Given the description of an element on the screen output the (x, y) to click on. 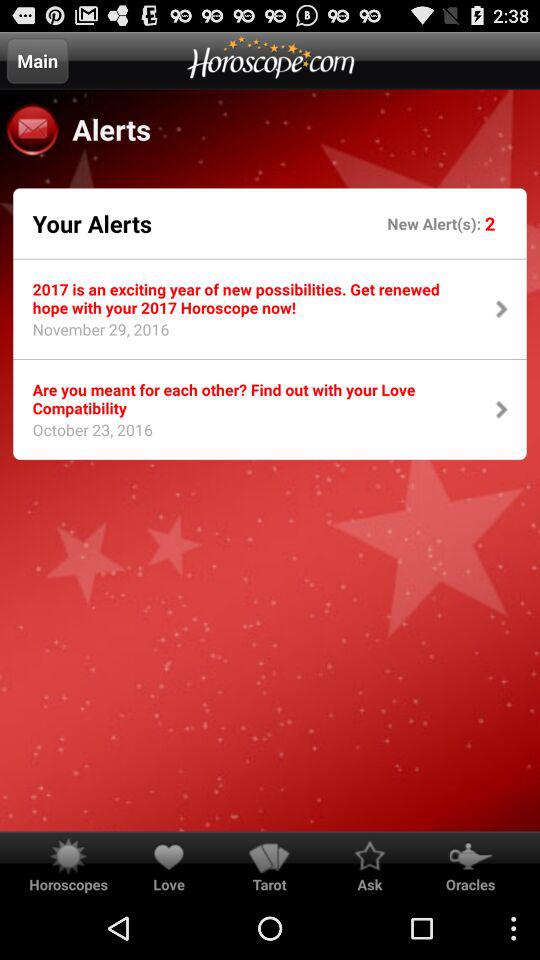
launch the icon above the are you meant item (250, 298)
